Given the description of an element on the screen output the (x, y) to click on. 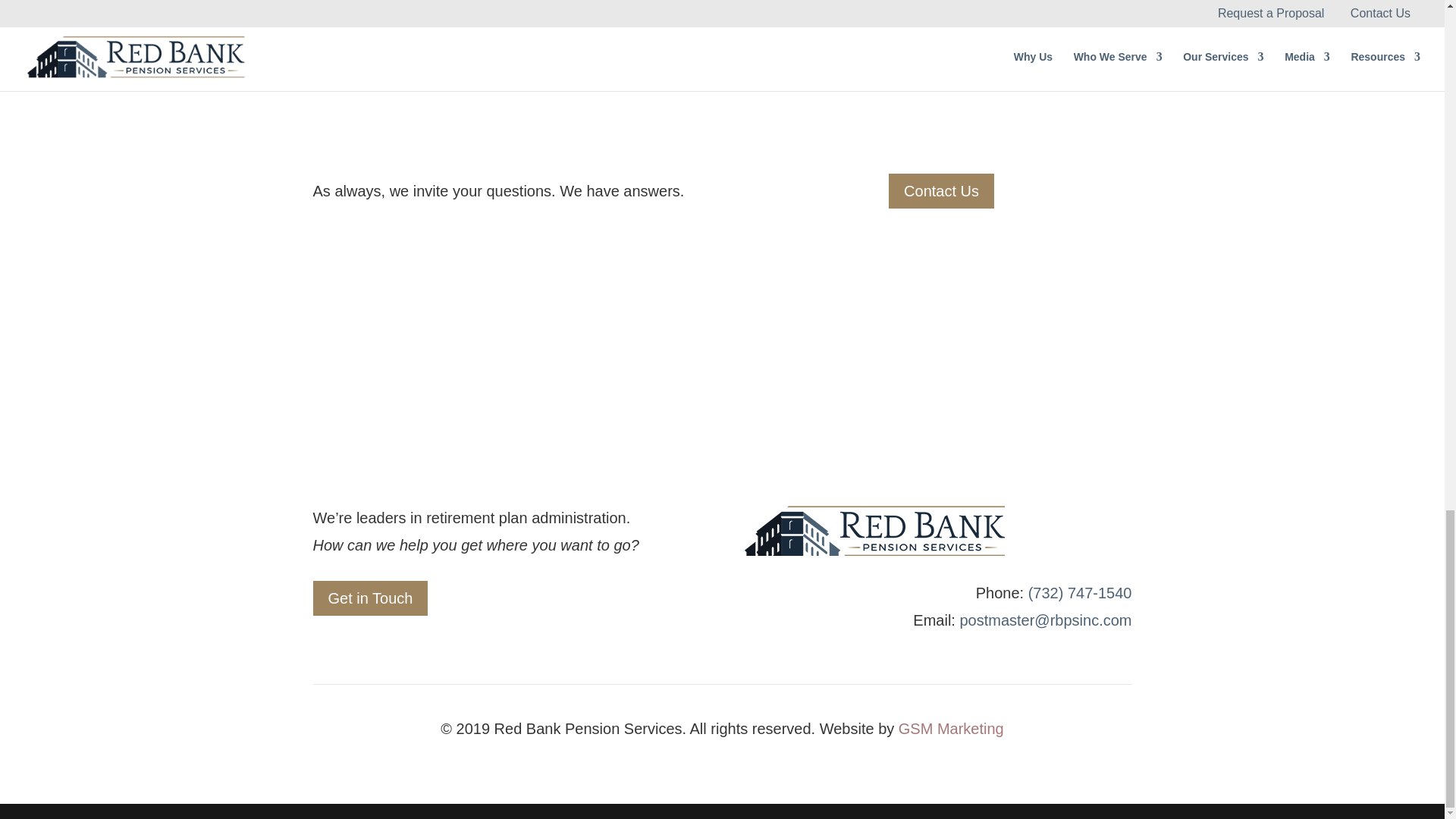
Get in Touch (370, 597)
Contact Us (941, 190)
GSM Marketing (951, 728)
GSM Marketing (951, 728)
